Given the description of an element on the screen output the (x, y) to click on. 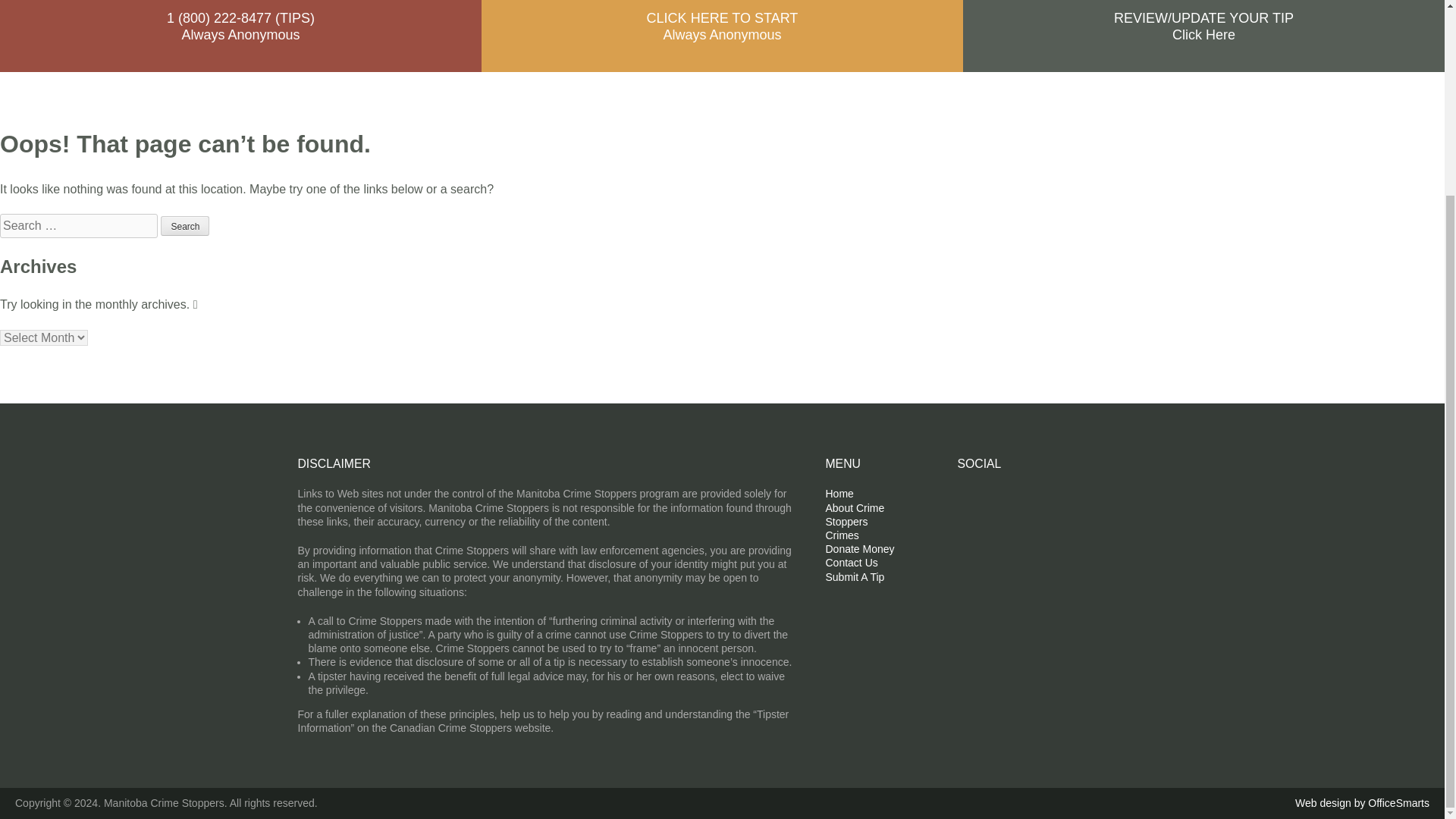
Submit A Tip (854, 576)
About Crime Stoppers (854, 514)
Contact Us (851, 562)
Search (184, 225)
Search (184, 225)
Crimes (842, 535)
Home (839, 493)
Search (184, 225)
Web design by OfficeSmarts (1362, 803)
Donate Money (859, 548)
